Given the description of an element on the screen output the (x, y) to click on. 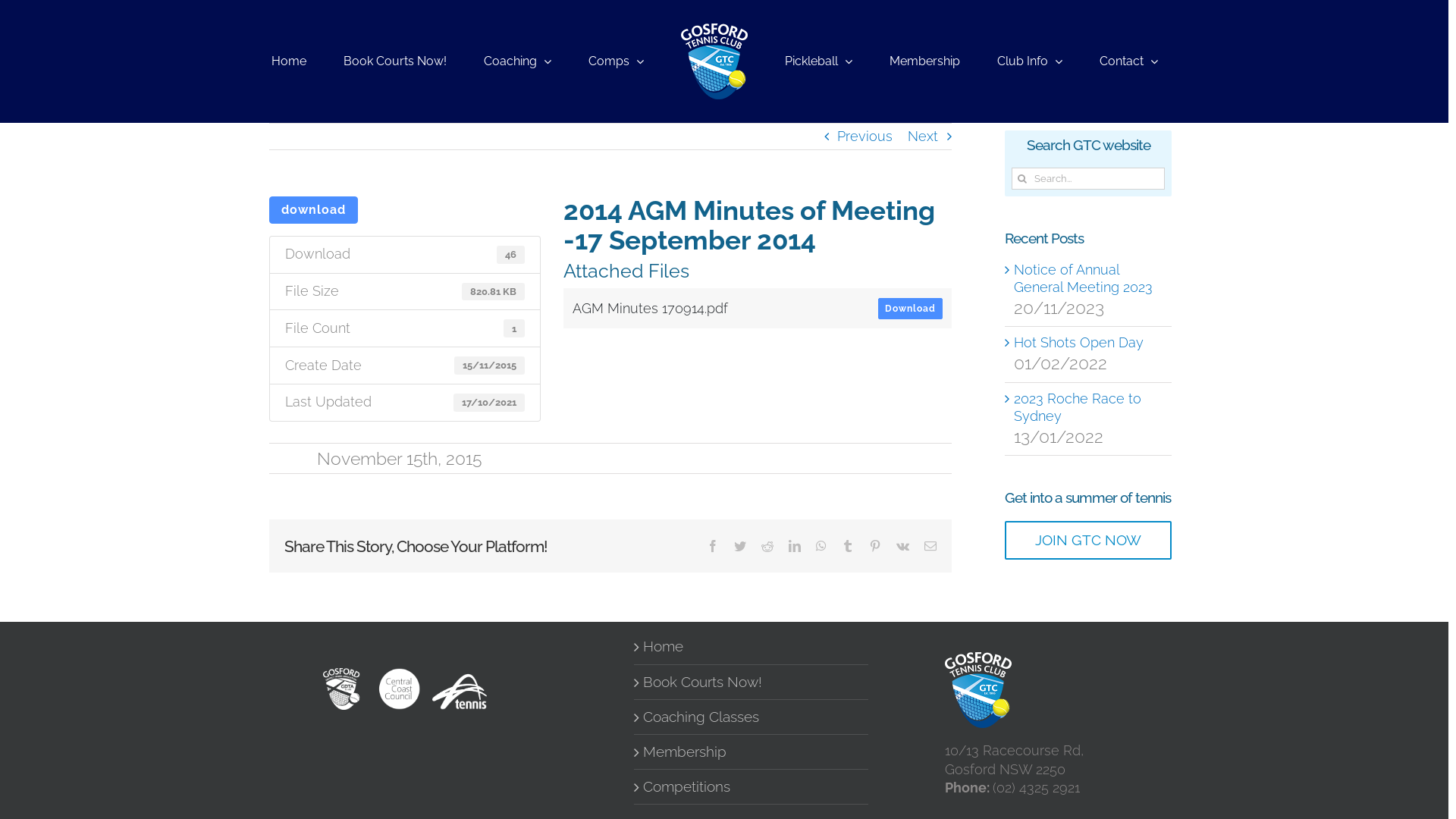
Vk Element type: text (902, 545)
Book Courts Now! Element type: text (394, 61)
Previous Element type: text (864, 136)
Coaching Classes Element type: text (751, 716)
LinkedIn Element type: text (794, 545)
Home Element type: text (288, 61)
Hot Shots Open Day Element type: text (1078, 342)
Contact Element type: text (1128, 61)
Next Element type: text (922, 136)
Notice of Annual General Meeting 2023 Element type: text (1082, 277)
Twitter Element type: text (740, 545)
Tumblr Element type: text (847, 545)
Book Courts Now! Element type: text (751, 681)
Facebook Element type: text (712, 545)
WhatsApp Element type: text (820, 545)
Competitions Element type: text (751, 786)
Pickleball Element type: text (818, 61)
Email Element type: text (930, 545)
download Element type: text (313, 209)
Comps Element type: text (615, 61)
JOIN GTC NOW Element type: text (1087, 539)
Home Element type: text (751, 646)
Pinterest Element type: text (875, 545)
Download Element type: text (910, 308)
Coaching Element type: text (517, 61)
2023 Roche Race to Sydney Element type: text (1077, 406)
Membership Element type: text (924, 61)
Club Info Element type: text (1029, 61)
Membership Element type: text (751, 751)
Reddit Element type: text (767, 545)
